Given the description of an element on the screen output the (x, y) to click on. 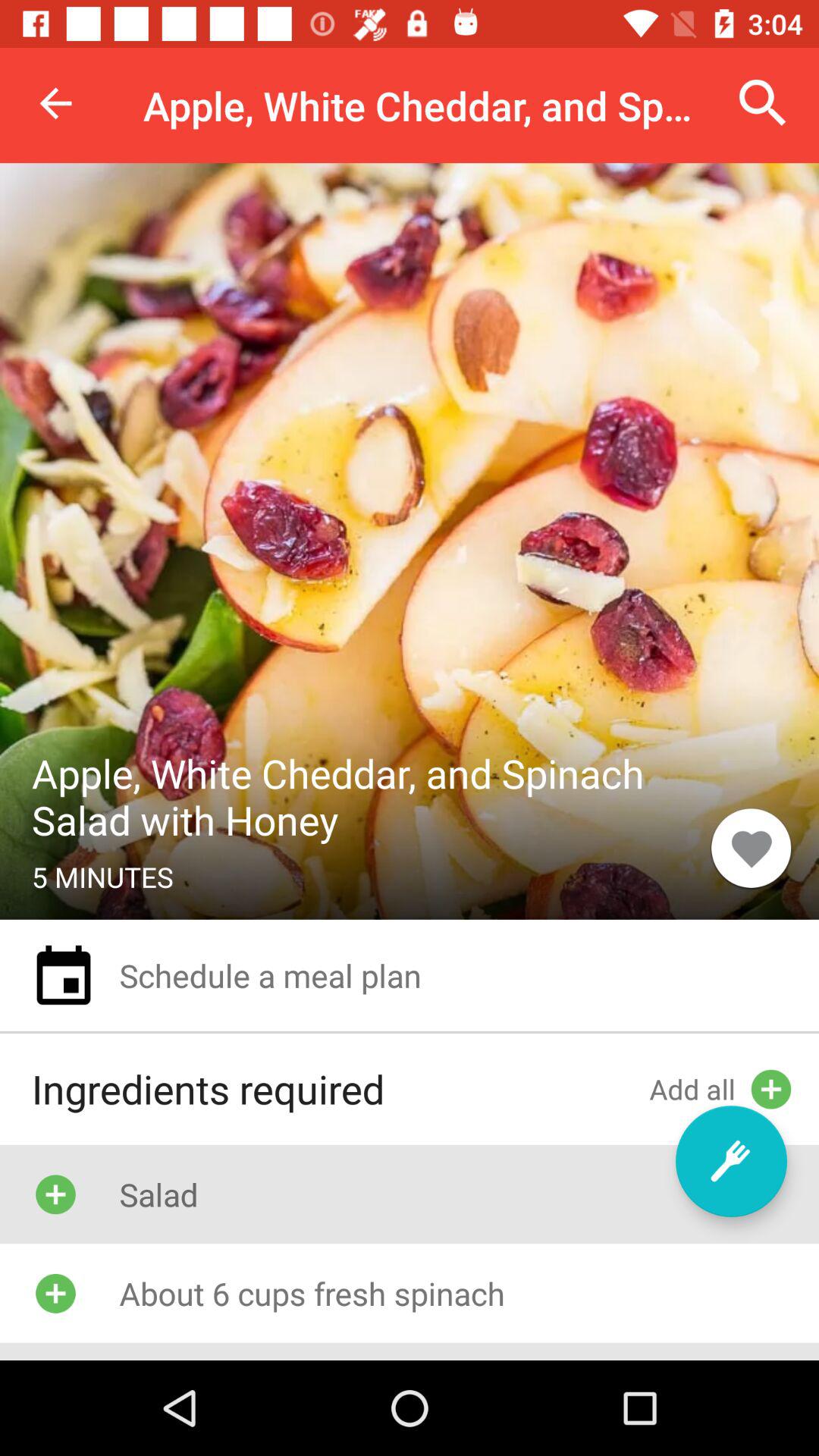
press the item to the right of ingredients required item (731, 1161)
